Given the description of an element on the screen output the (x, y) to click on. 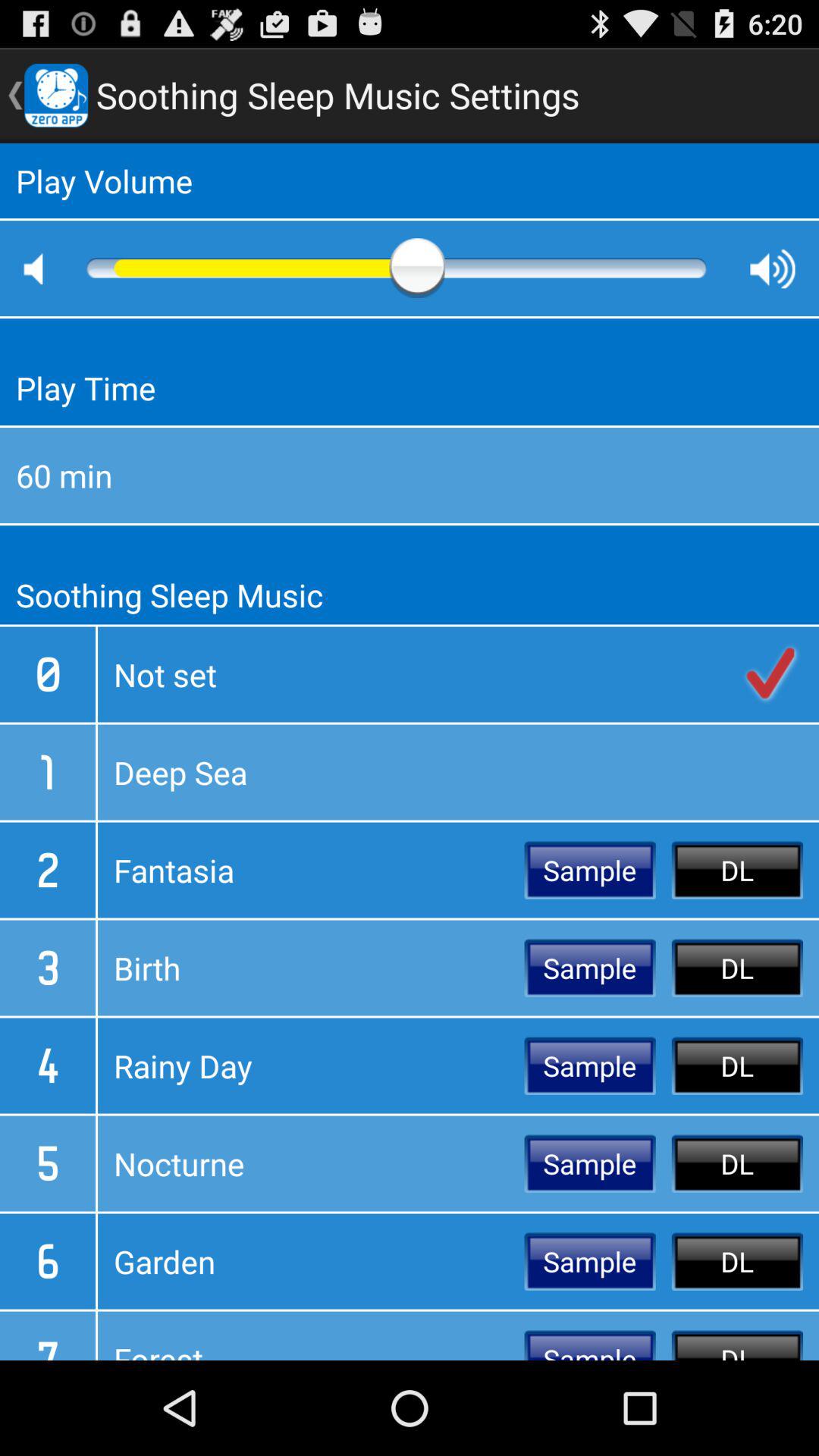
scroll to the not set item (458, 674)
